Given the description of an element on the screen output the (x, y) to click on. 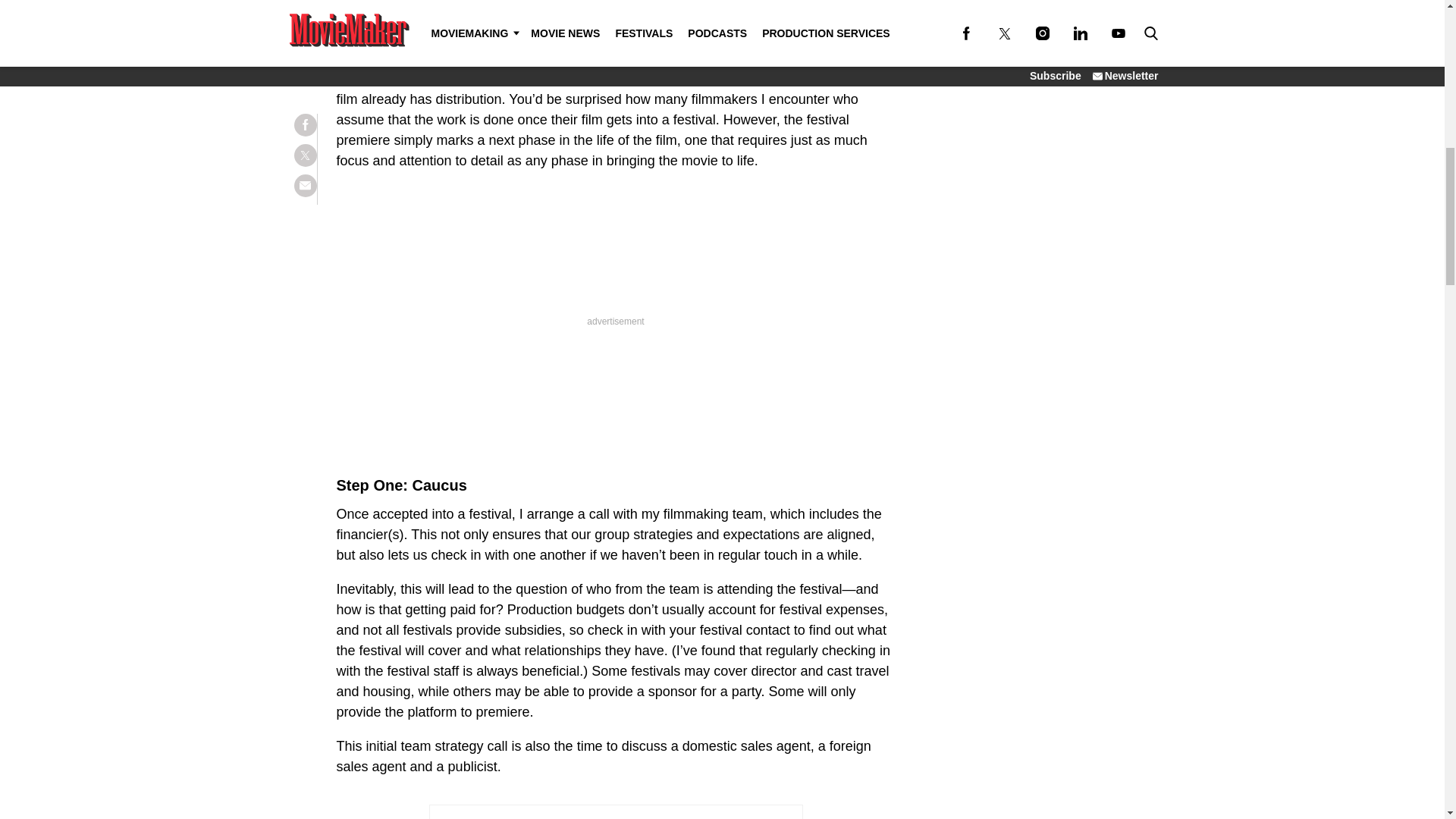
Share via Email (305, 2)
